Given the description of an element on the screen output the (x, y) to click on. 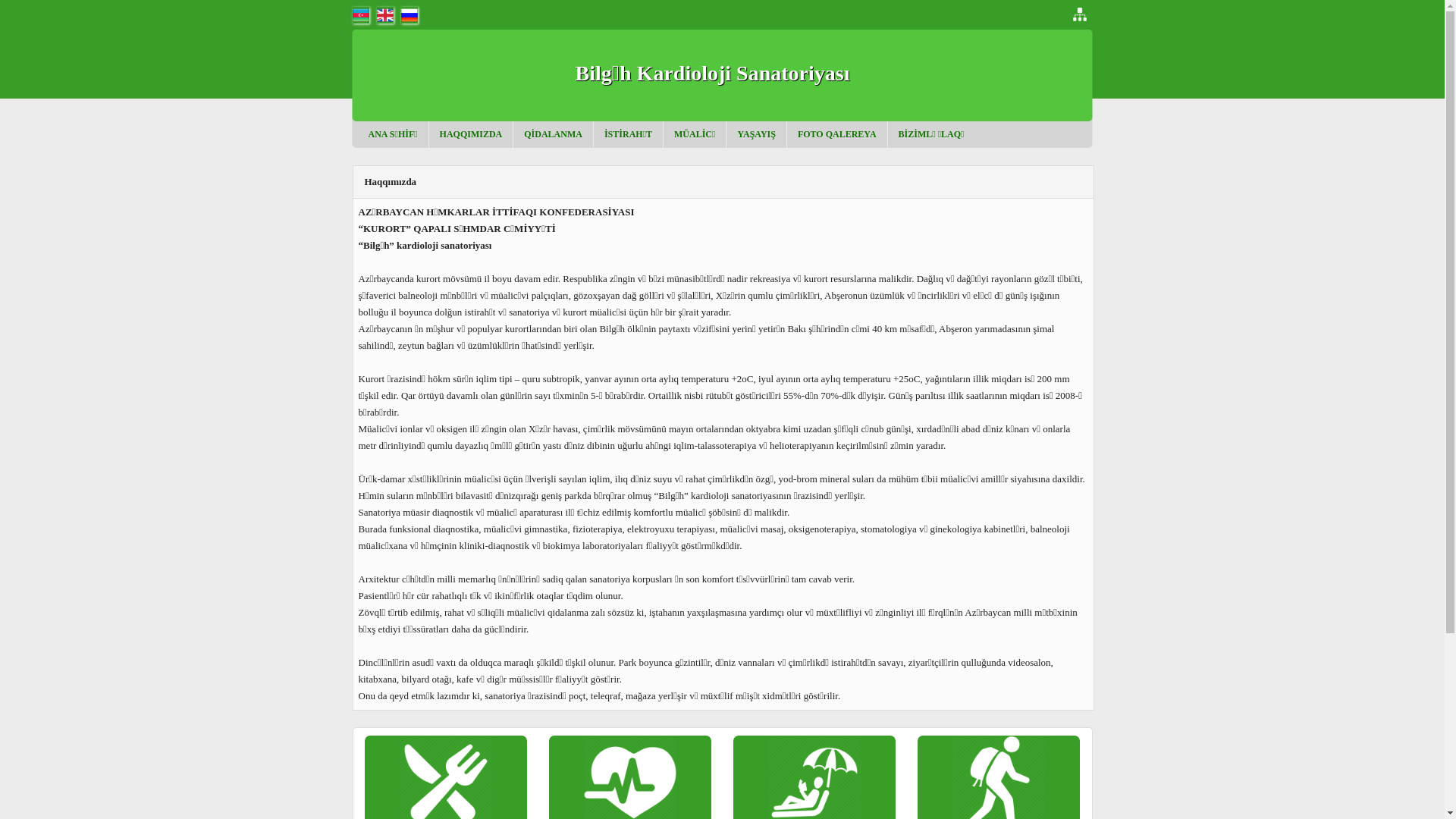
HAQQIMIZDA Element type: text (470, 133)
FOTO QALEREYA Element type: text (836, 133)
